Given the description of an element on the screen output the (x, y) to click on. 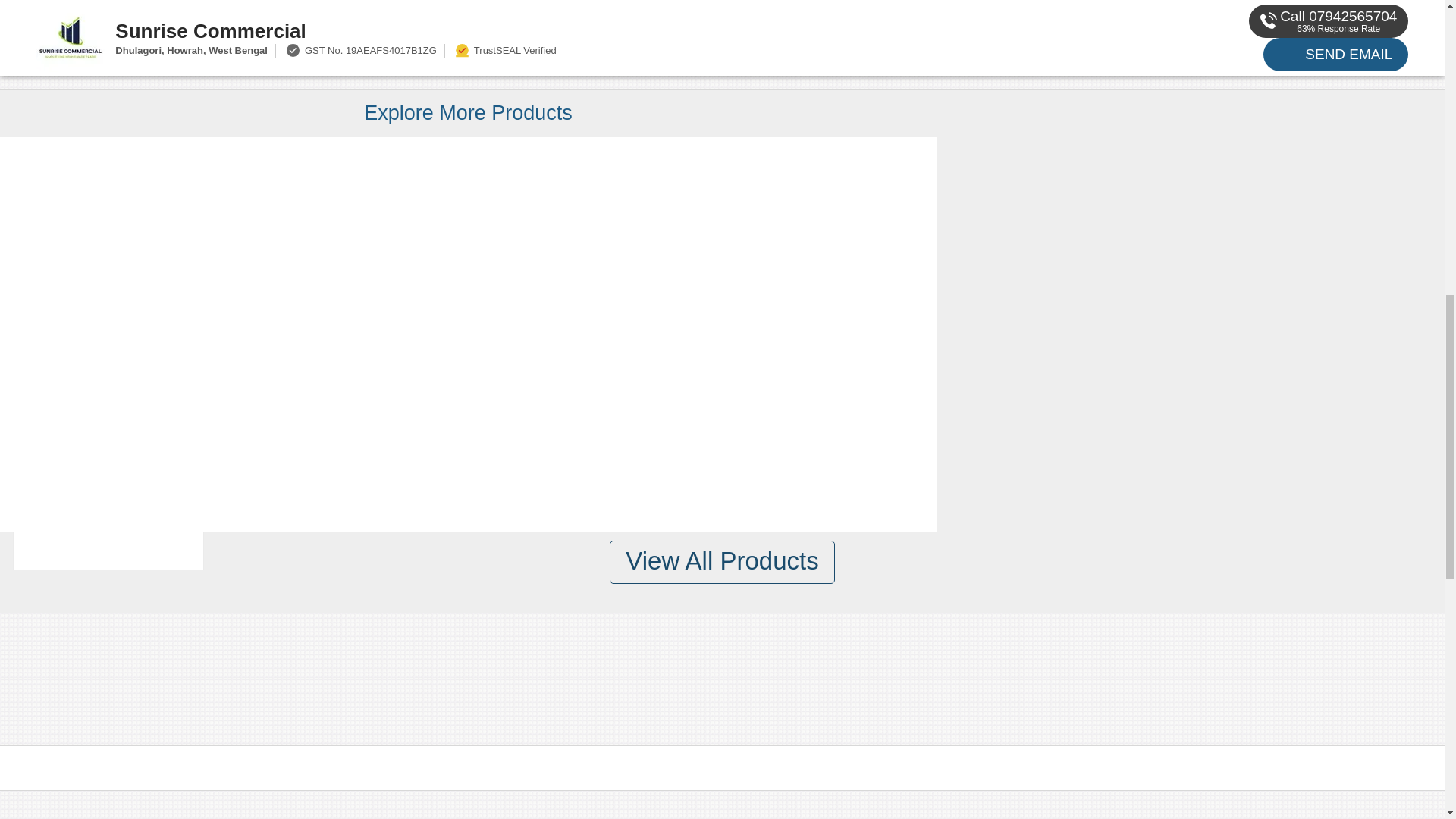
View All Products (722, 561)
